Given the description of an element on the screen output the (x, y) to click on. 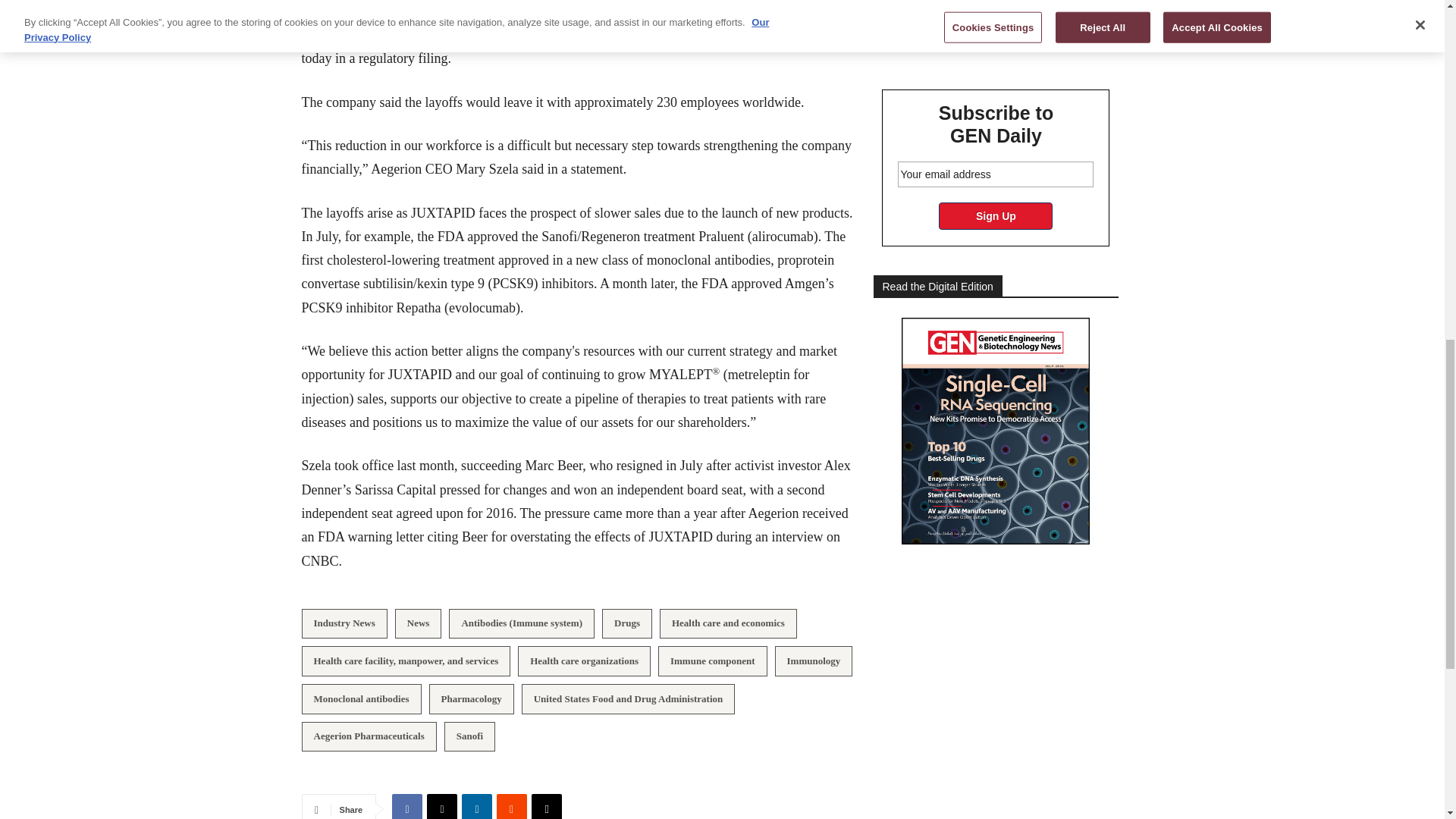
Sign Up (995, 216)
